Given the description of an element on the screen output the (x, y) to click on. 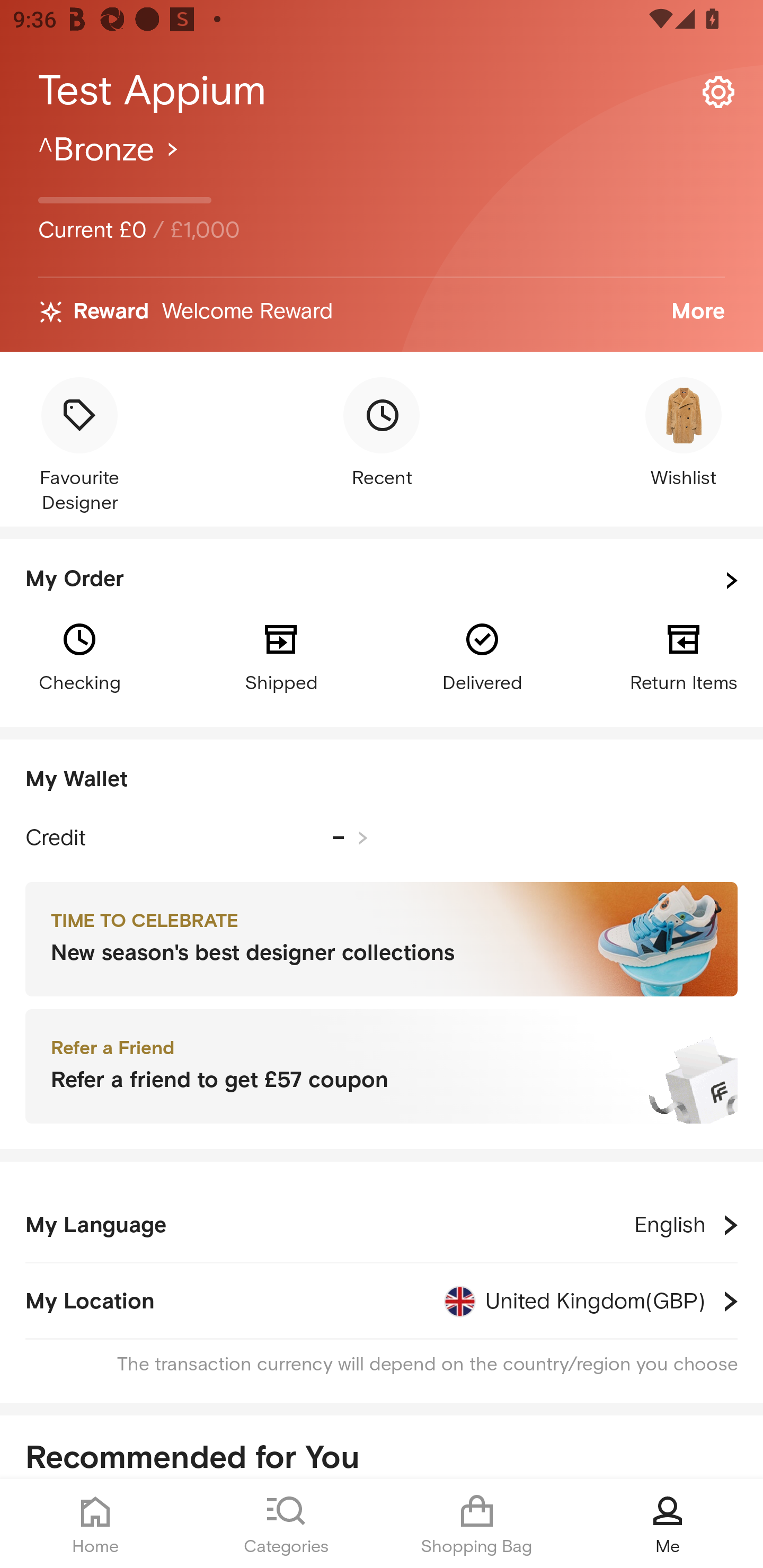
Test Appium (381, 91)
Current £0 / £1,000 Reward Welcome Reward More (381, 240)
Reward Welcome Reward More (381, 311)
Favourite Designer (79, 446)
Recent (381, 433)
Wishlist (683, 433)
My Order (381, 580)
Checking (79, 656)
Shipped (280, 656)
Delivered (482, 656)
Return Items (683, 656)
My Wallet (381, 779)
Credit - (196, 837)
Refer a Friend Refer a friend to get £57 coupon (381, 1066)
My Language English (381, 1224)
My Location United Kingdom(GBP) (381, 1301)
Home (95, 1523)
Categories (285, 1523)
Shopping Bag (476, 1523)
